Given the description of an element on the screen output the (x, y) to click on. 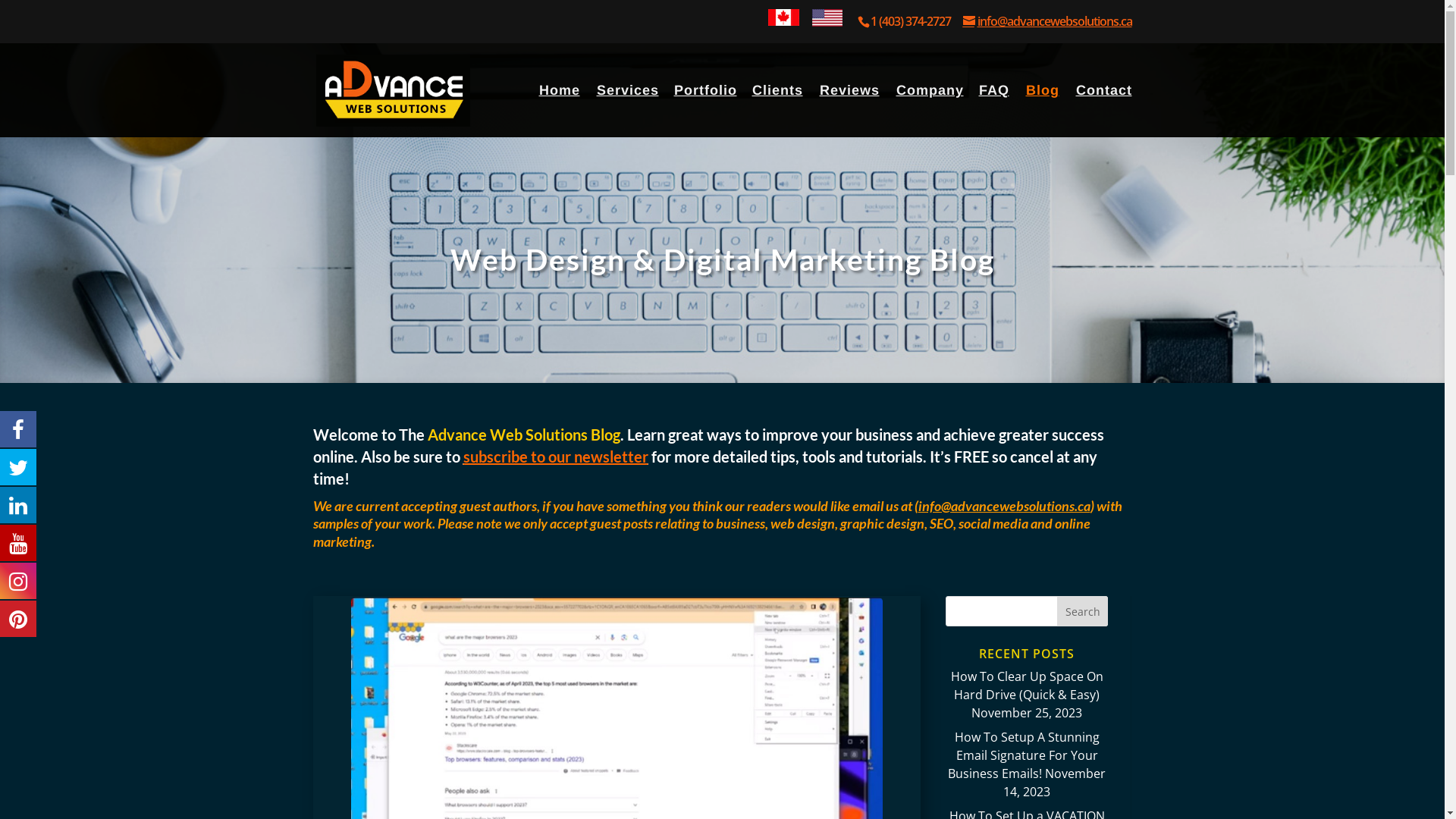
info@advancewebsolutions.ca Element type: text (1047, 20)
How To Clear Up Space On Hard Drive (Quick & Easy) Element type: text (1026, 685)
Clients Element type: text (777, 110)
Company Element type: text (937, 110)
Search Element type: text (1082, 611)
FAQ Element type: text (993, 110)
Services Element type: text (634, 110)
Reviews Element type: text (848, 110)
Home Element type: text (558, 110)
Blog Element type: text (1041, 110)
subscribe to our newsletter Element type: text (554, 456)
info@advancewebsolutions.ca Element type: text (1003, 505)
Contact Element type: text (1103, 110)
Portfolio Element type: text (712, 110)
